Given the description of an element on the screen output the (x, y) to click on. 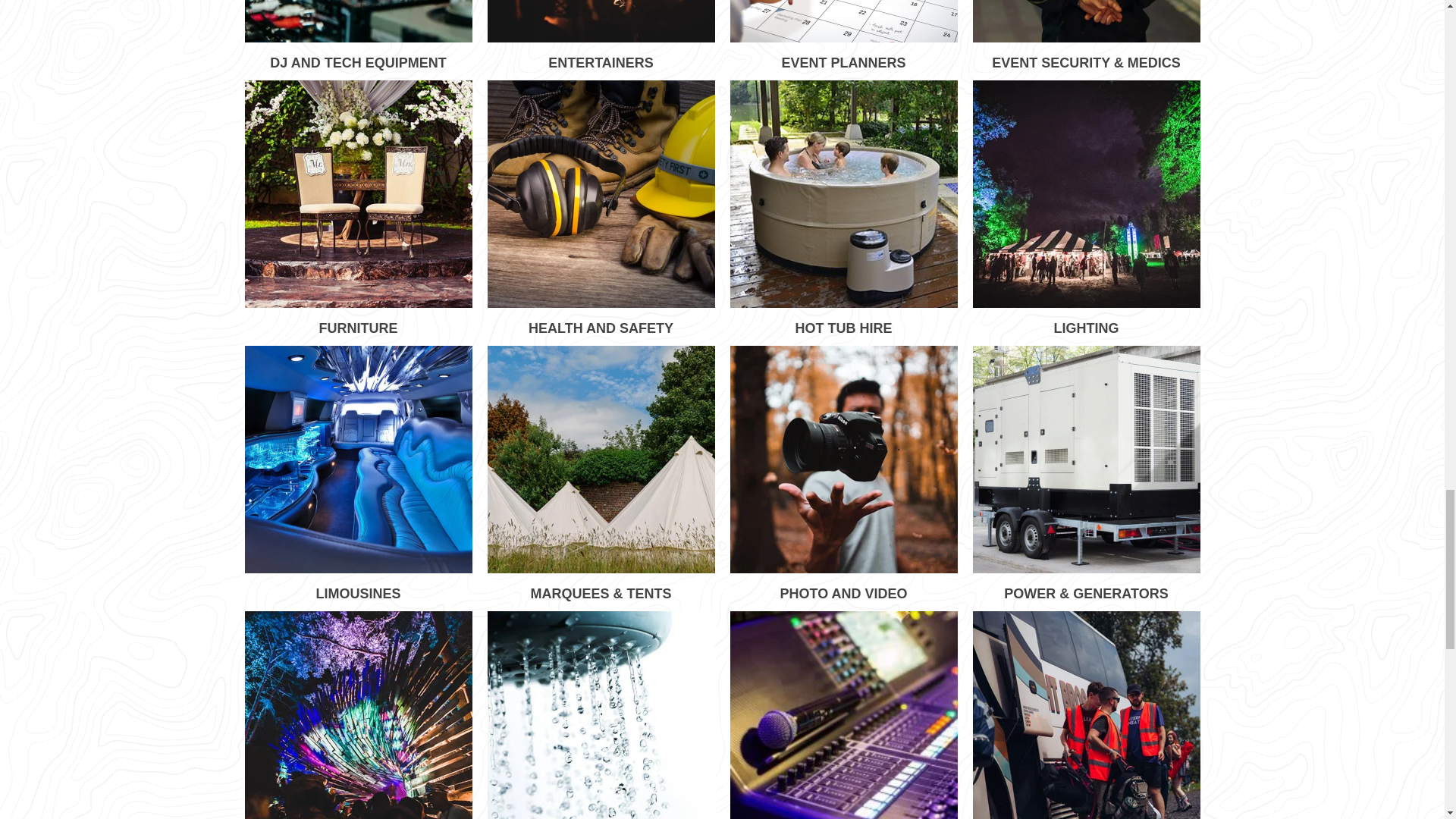
ENTERTAINERS (600, 36)
DJ AND TECH EQUIPMENT (357, 36)
EVENT PLANNERS (842, 36)
SHOWERS (600, 714)
STAFF (1085, 714)
